Given the description of an element on the screen output the (x, y) to click on. 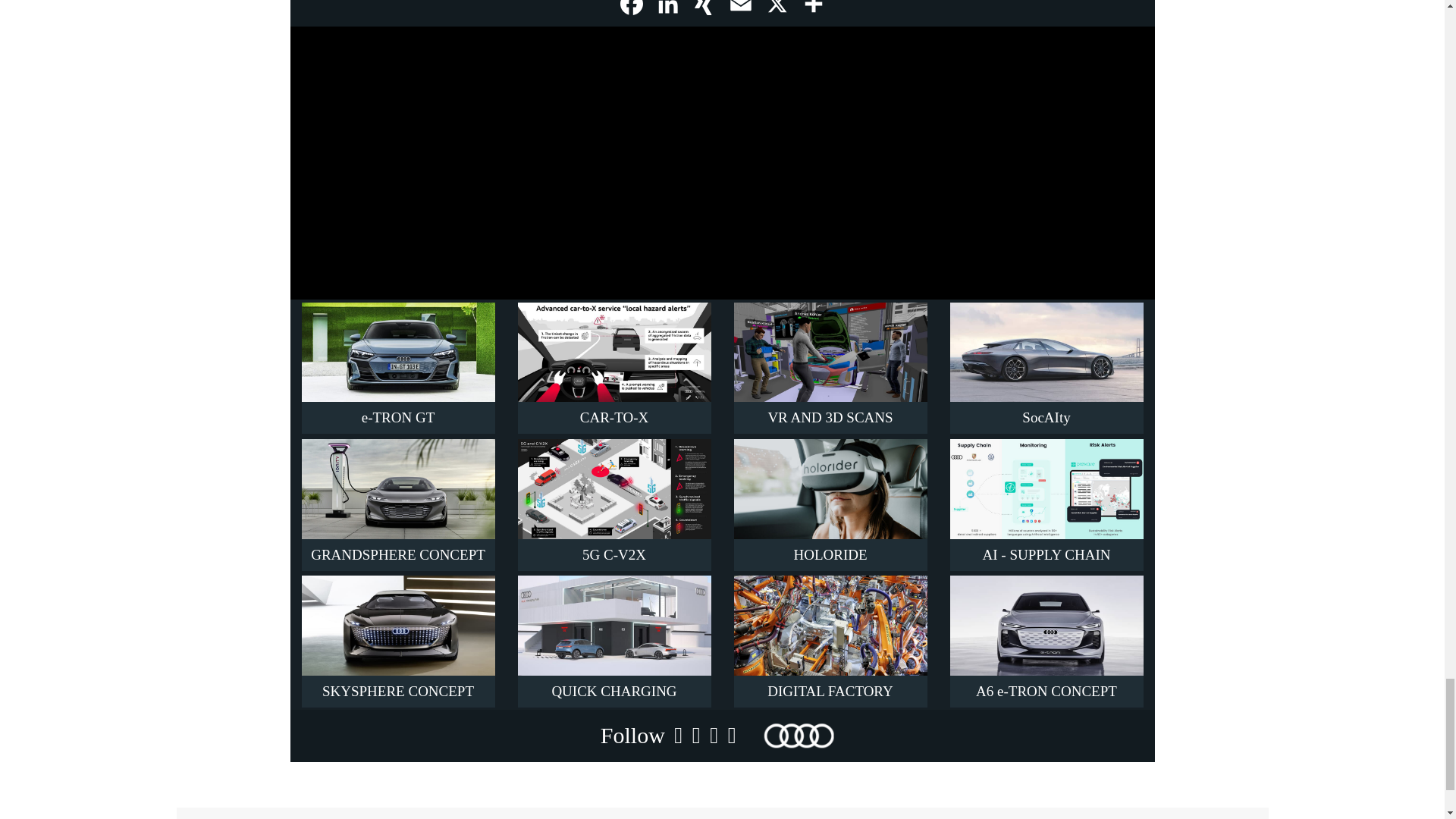
Facebook (630, 15)
Email (740, 15)
X (776, 15)
XING (703, 15)
X (776, 15)
LinkedIn (667, 15)
Share (812, 15)
XING (703, 15)
LinkedIn (667, 15)
Facebook (630, 15)
Email (740, 15)
